Given the description of an element on the screen output the (x, y) to click on. 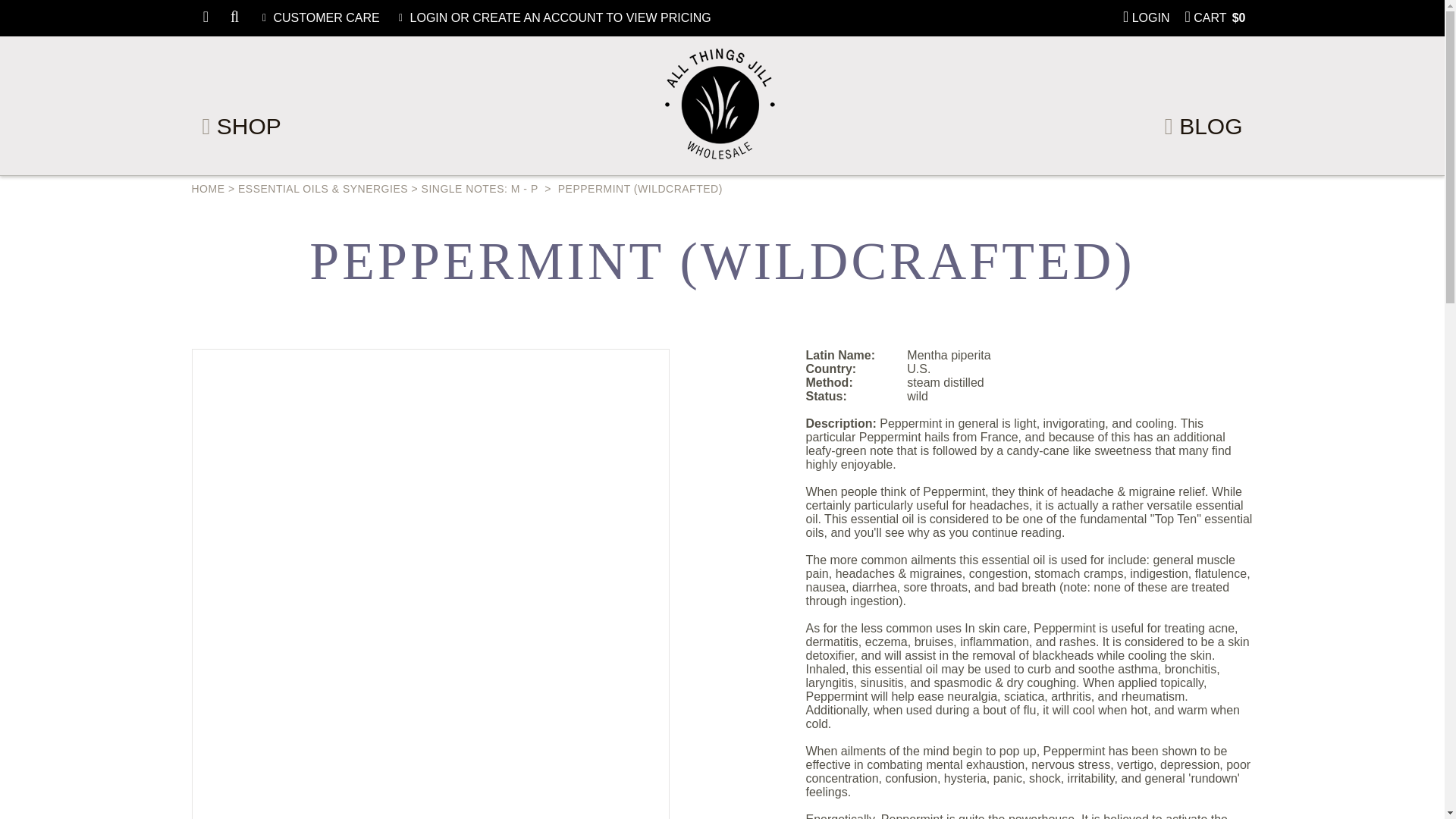
LOGIN OR CREATE AN ACCOUNT TO VIEW PRICING (552, 18)
LOGIN (1146, 18)
CUSTOMER CARE (318, 18)
